Given the description of an element on the screen output the (x, y) to click on. 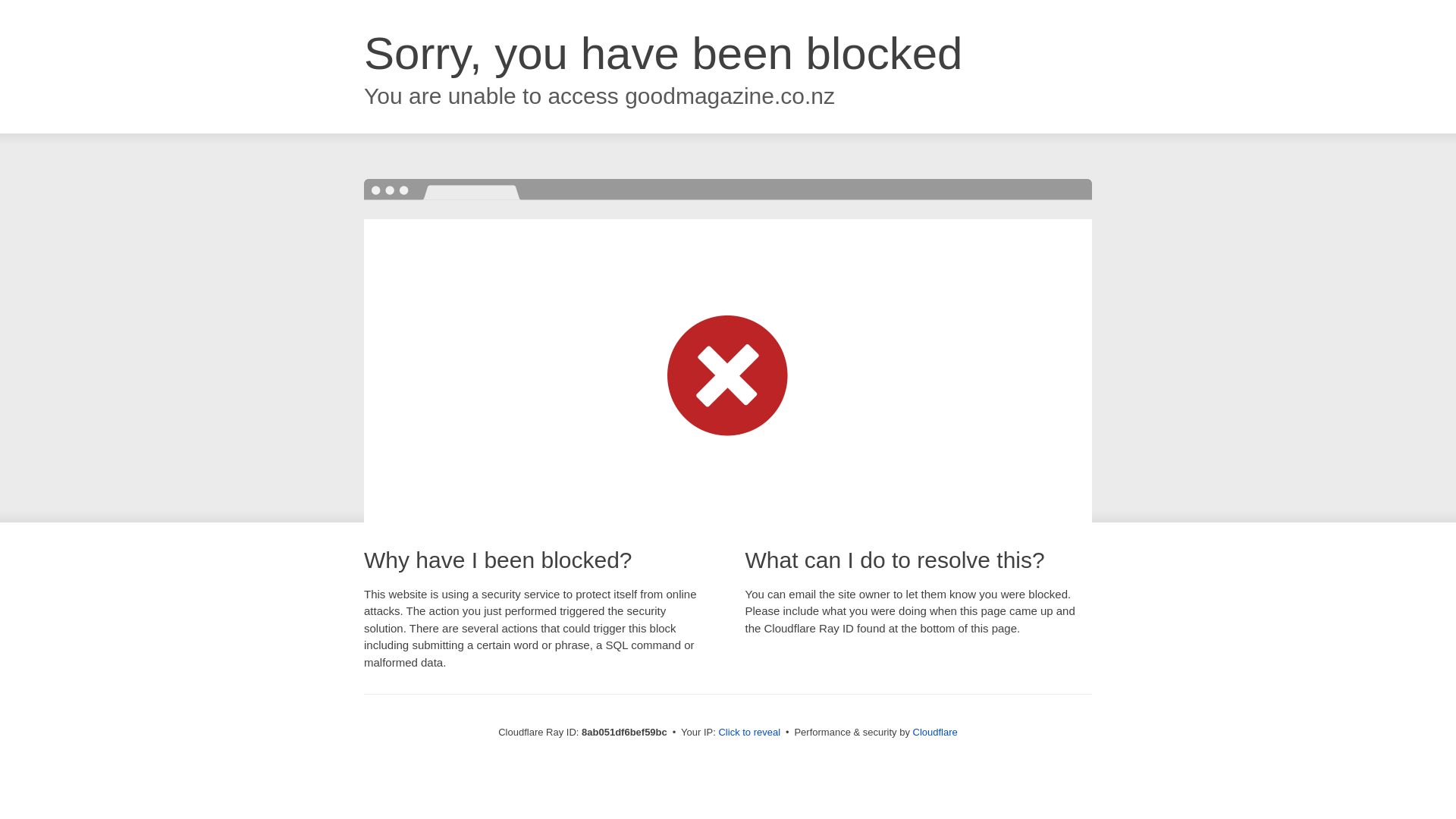
Click to reveal (748, 732)
Cloudflare (935, 731)
